Given the description of an element on the screen output the (x, y) to click on. 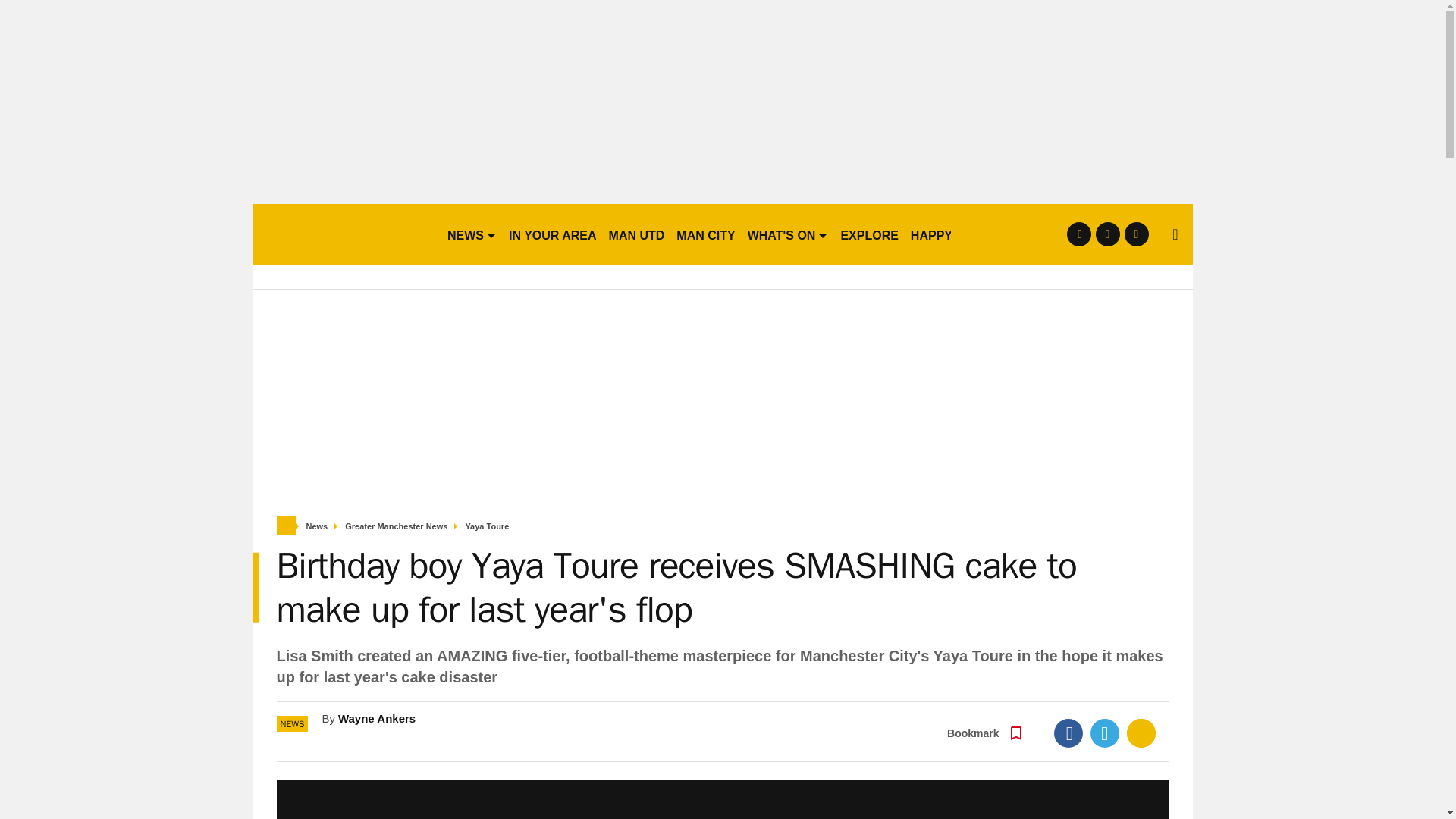
men (342, 233)
NEWS (471, 233)
instagram (1136, 233)
Facebook (1068, 733)
facebook (1077, 233)
MAN UTD (636, 233)
IN YOUR AREA (552, 233)
WHAT'S ON (787, 233)
MAN CITY (705, 233)
Twitter (1104, 733)
